Given the description of an element on the screen output the (x, y) to click on. 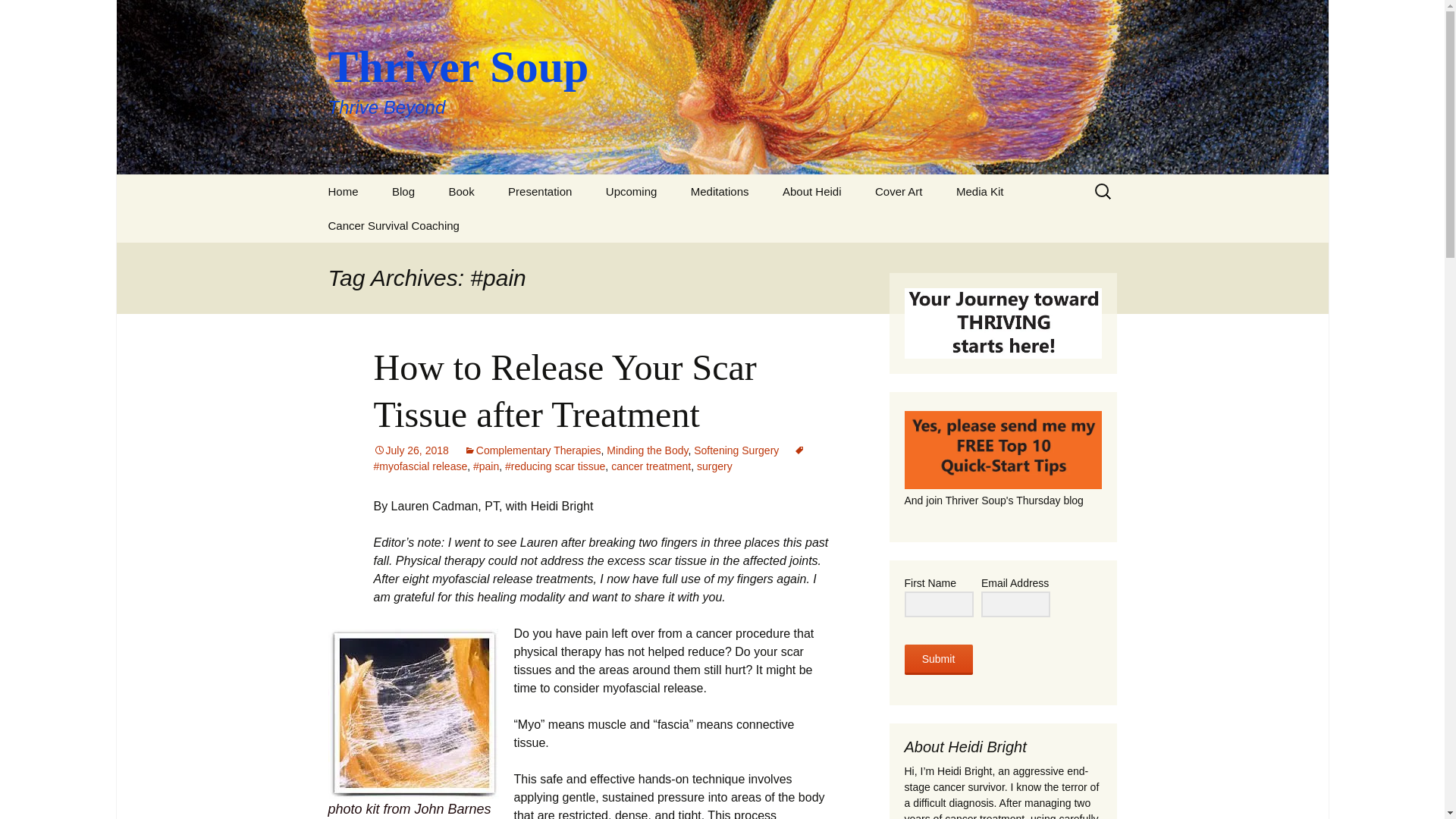
Meditations (719, 191)
How to Release Your Scar Tissue after Treatment (563, 390)
Permalink to How to Release Your Scar Tissue after Treatment (410, 450)
Cover Art (898, 191)
Upcoming (631, 191)
Softening Surgery (736, 450)
Home (342, 191)
Cancer Survival Coaching (393, 225)
Media Kit (979, 191)
Presentation (539, 191)
